Given the description of an element on the screen output the (x, y) to click on. 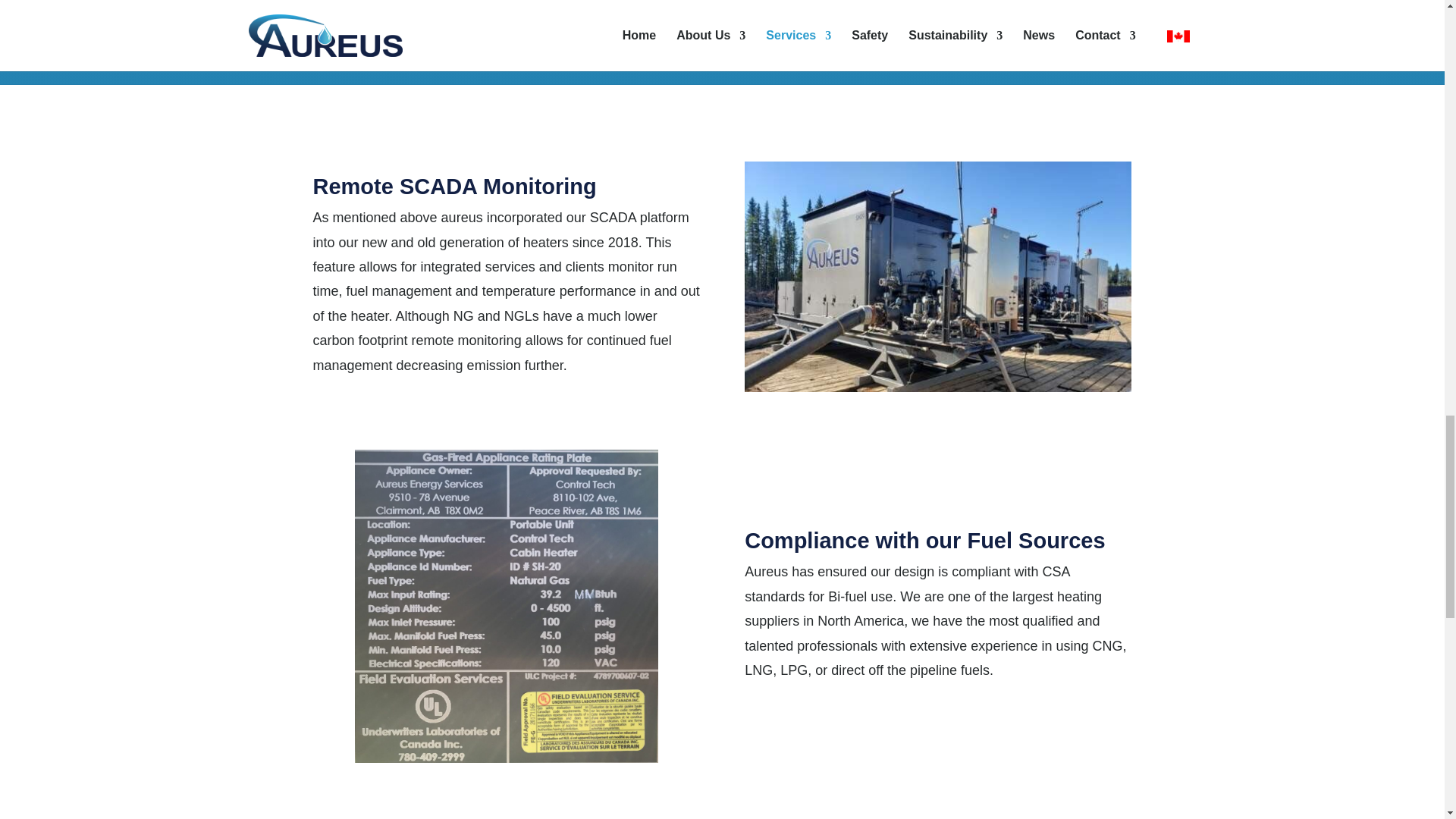
Aureus Automation for Remote SCADA Monitoring (937, 387)
Canada - Frac Fluid Heating - Remote SCADA (937, 276)
